Given the description of an element on the screen output the (x, y) to click on. 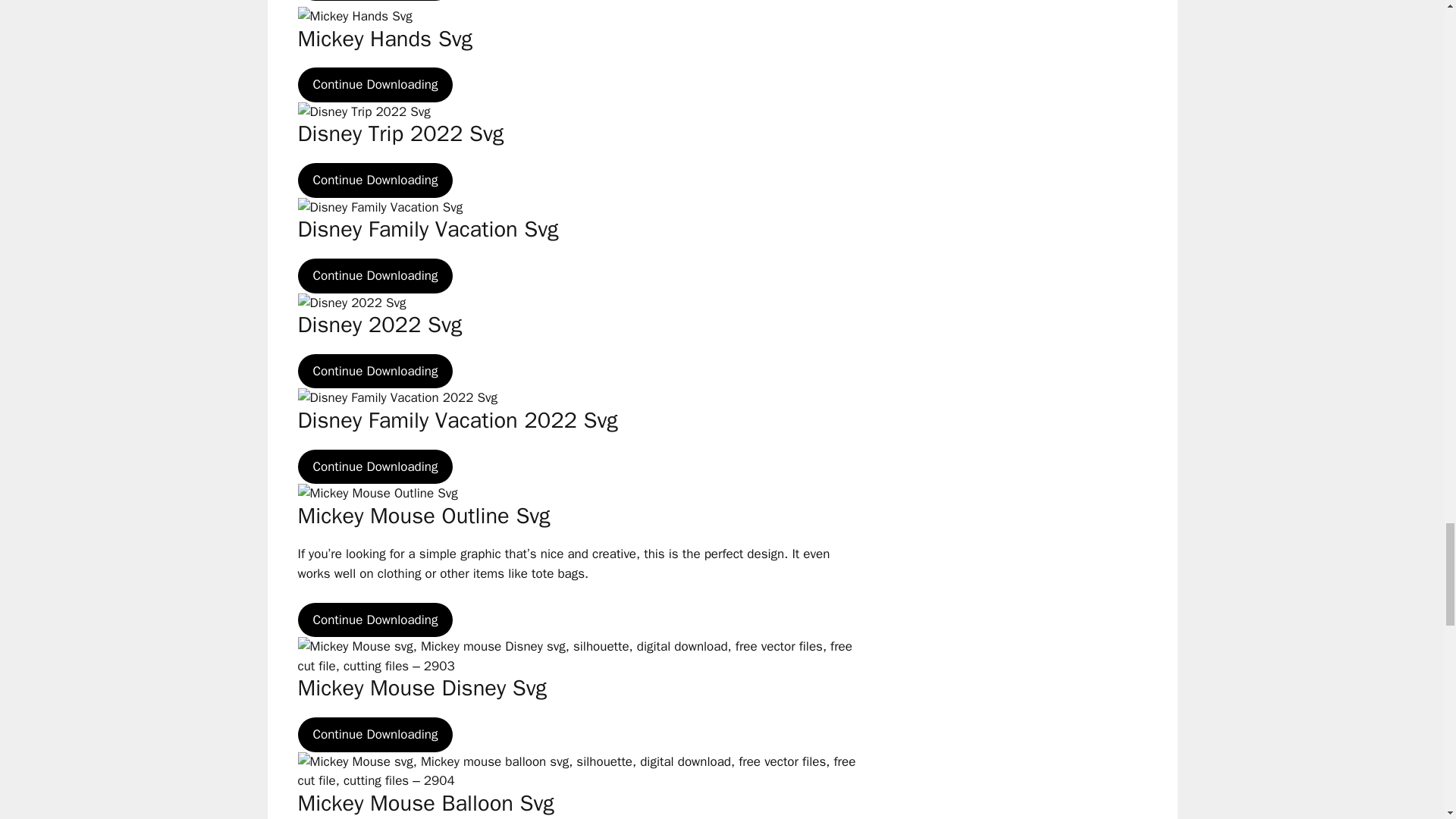
Continue Downloading (374, 84)
Continue Downloading (374, 466)
Continue Downloading (374, 734)
Continue Downloading (374, 180)
Continue Downloading (374, 275)
Continue Downloading (374, 371)
Continue Downloading (374, 620)
